Given the description of an element on the screen output the (x, y) to click on. 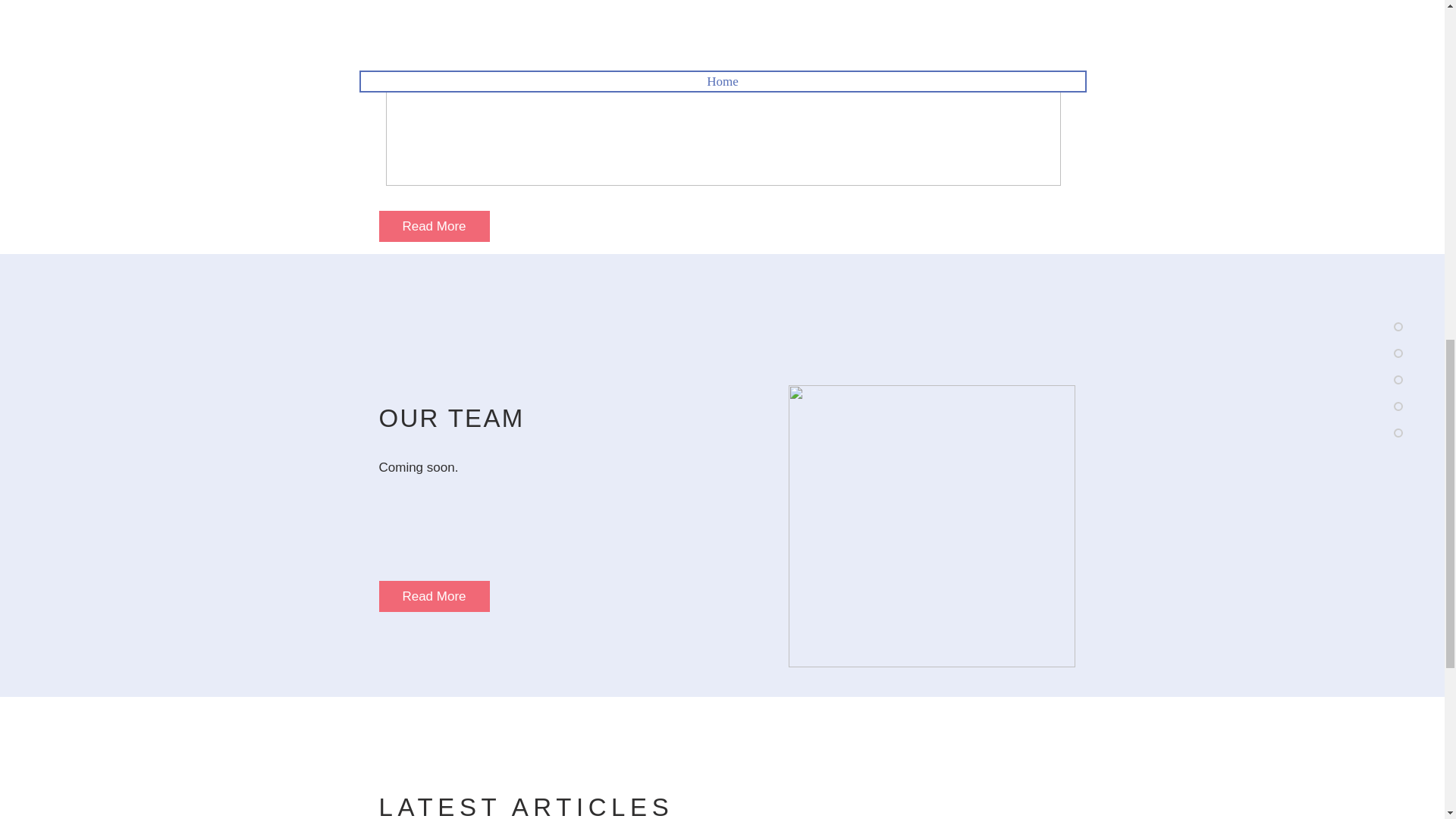
Read More (433, 225)
Read More (797, 14)
Read More (433, 595)
